Given the description of an element on the screen output the (x, y) to click on. 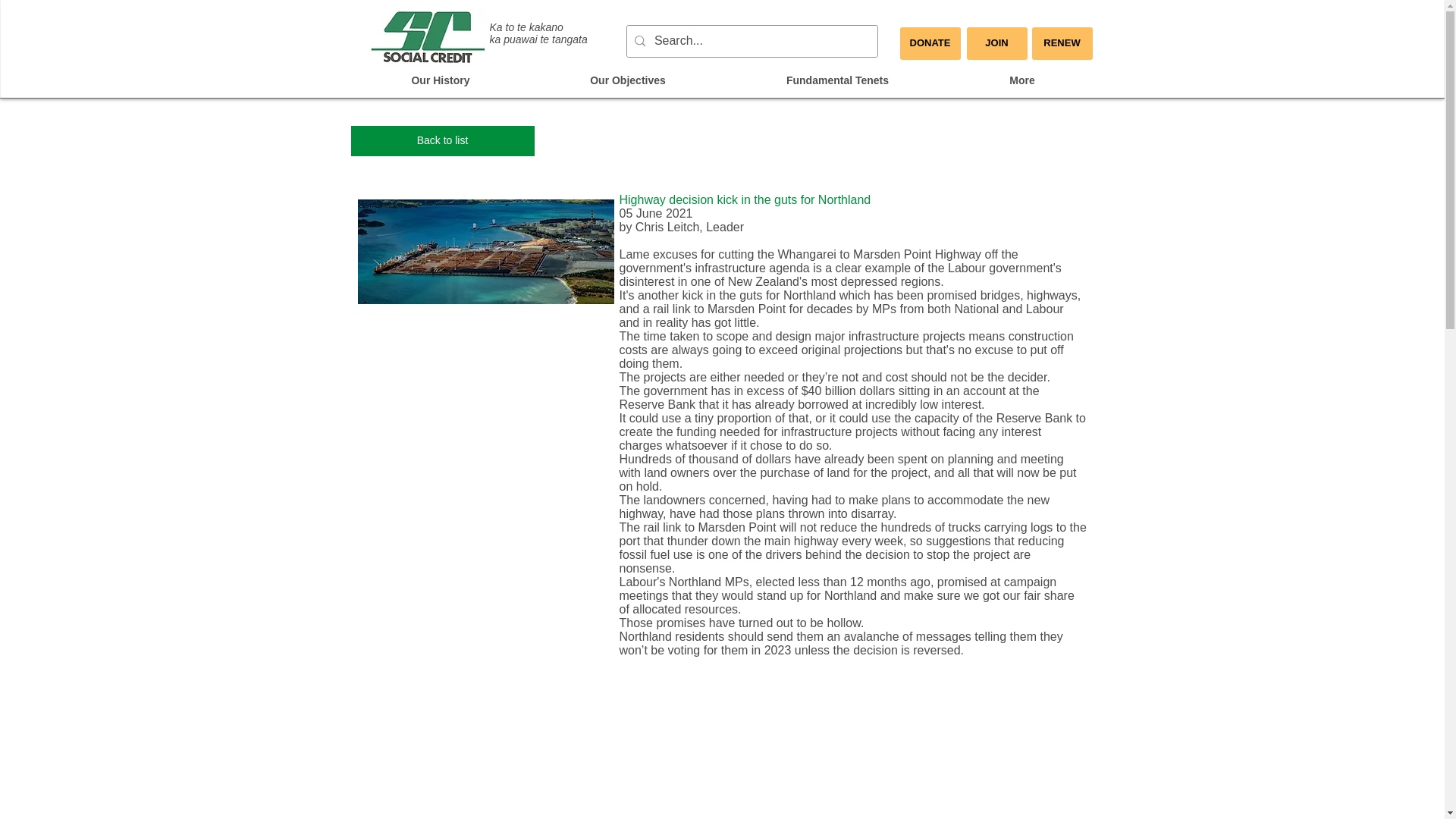
Fundamental Tenets (837, 80)
westpac-logo.png (486, 251)
DONATE (929, 43)
More (1021, 80)
Our Objectives (628, 80)
JOIN (996, 43)
Our History (439, 80)
Back to list (442, 141)
RENEW (1061, 43)
